Given the description of an element on the screen output the (x, y) to click on. 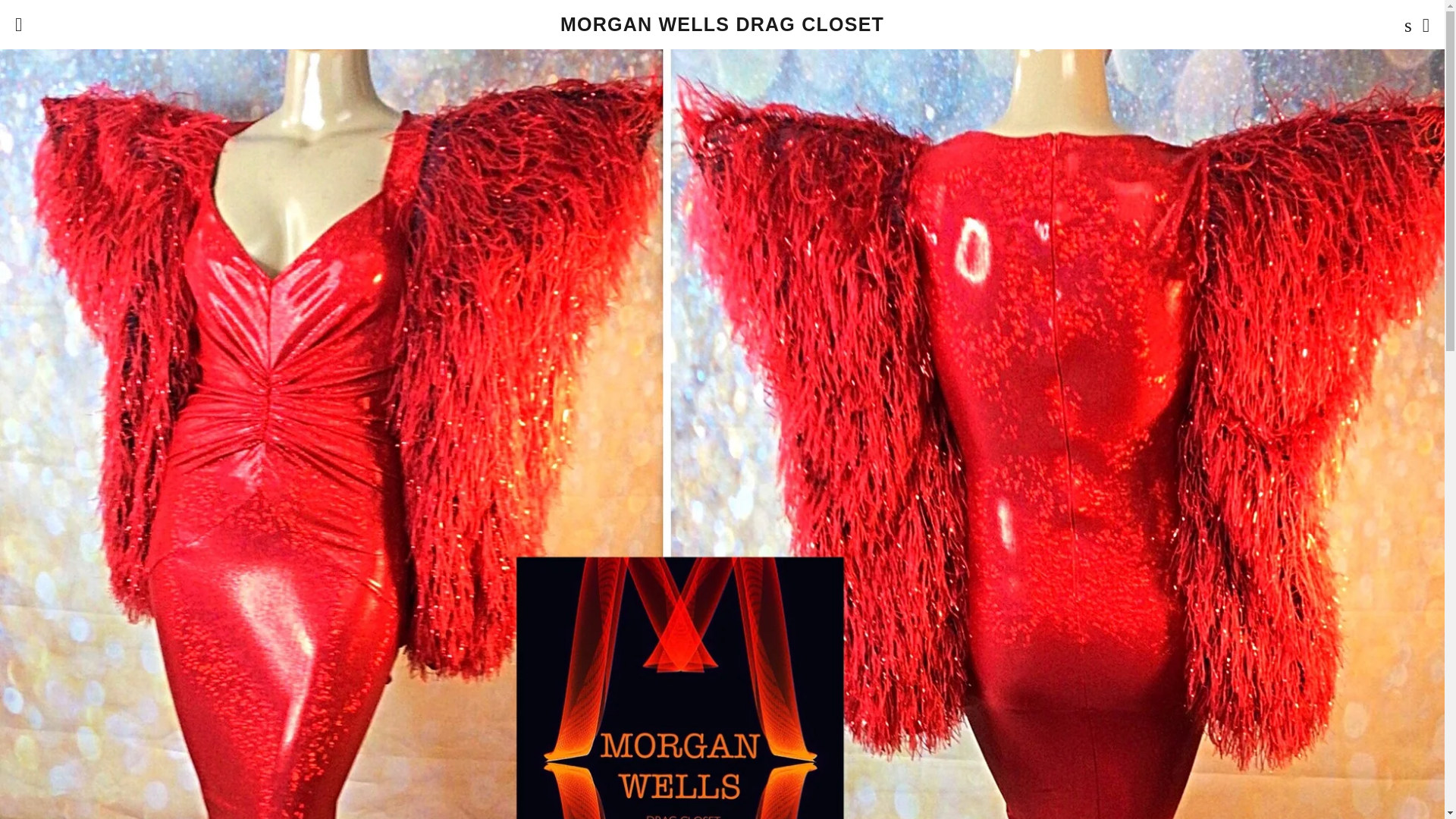
MORGAN WELLS DRAG CLOSET (722, 24)
